Given the description of an element on the screen output the (x, y) to click on. 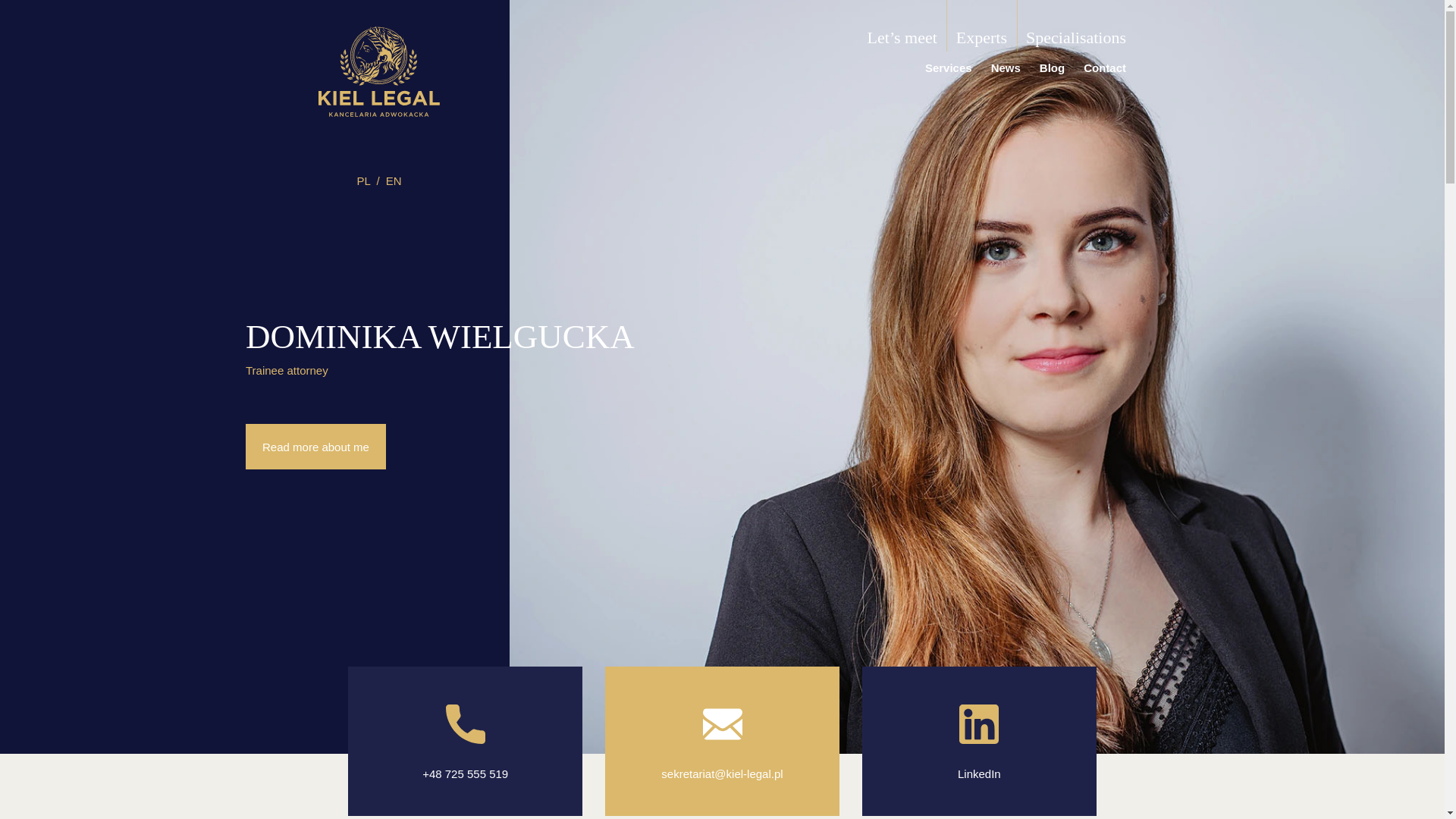
Services (948, 68)
PL (363, 179)
Experts (981, 37)
Read more about me (315, 446)
News (1005, 68)
Contact (1104, 68)
EN (393, 179)
LinkedIn (979, 773)
Blog (1051, 68)
Specialisations (1075, 37)
